Given the description of an element on the screen output the (x, y) to click on. 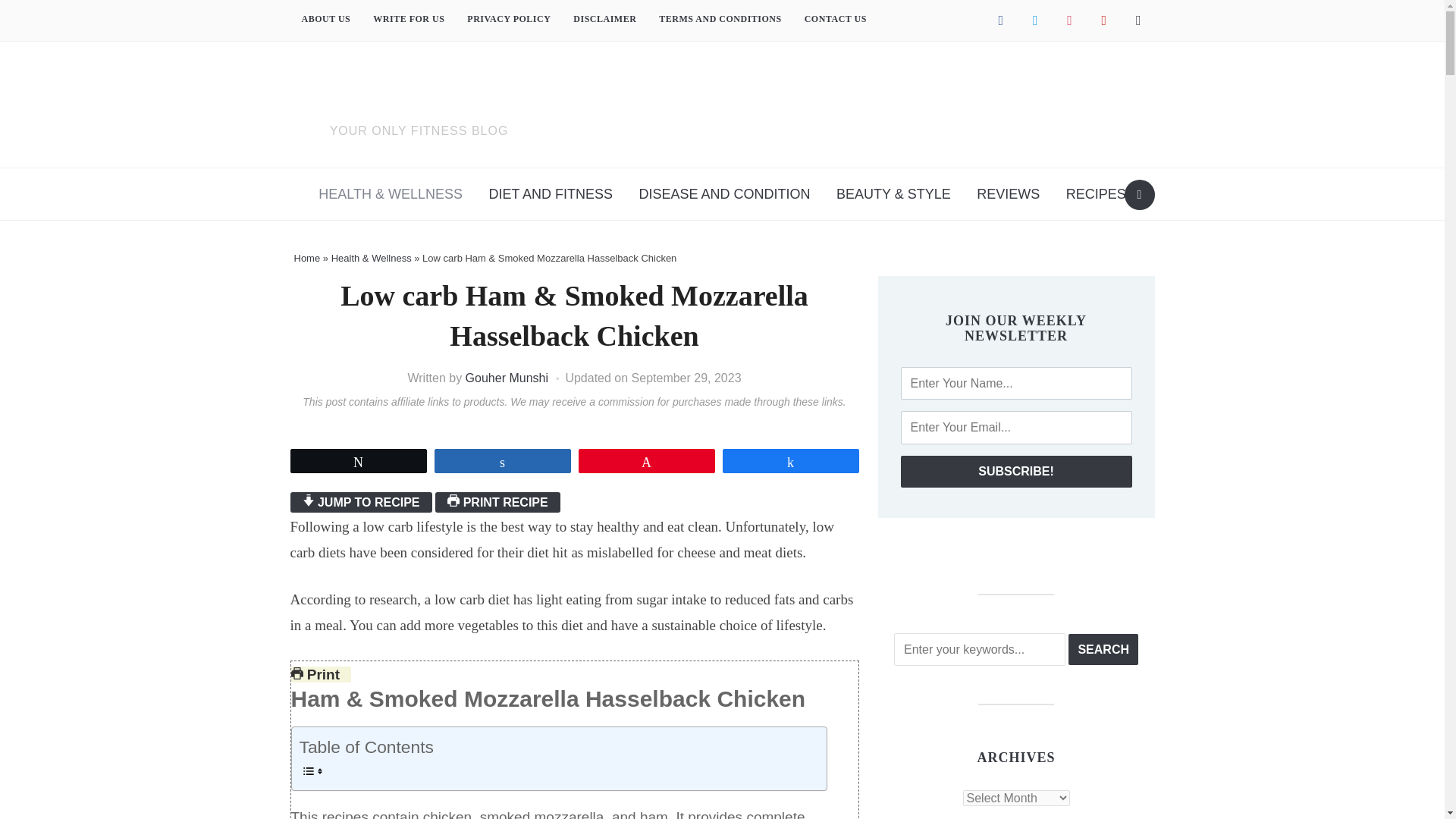
WRITE FOR US (408, 19)
Search (1139, 194)
Home (307, 257)
twitter (1035, 19)
Gouher Munshi (506, 377)
ABOUT US (325, 19)
REVIEWS (1008, 194)
Subscribe! (1016, 471)
RECIPES (1095, 194)
Search (1103, 649)
